Given the description of an element on the screen output the (x, y) to click on. 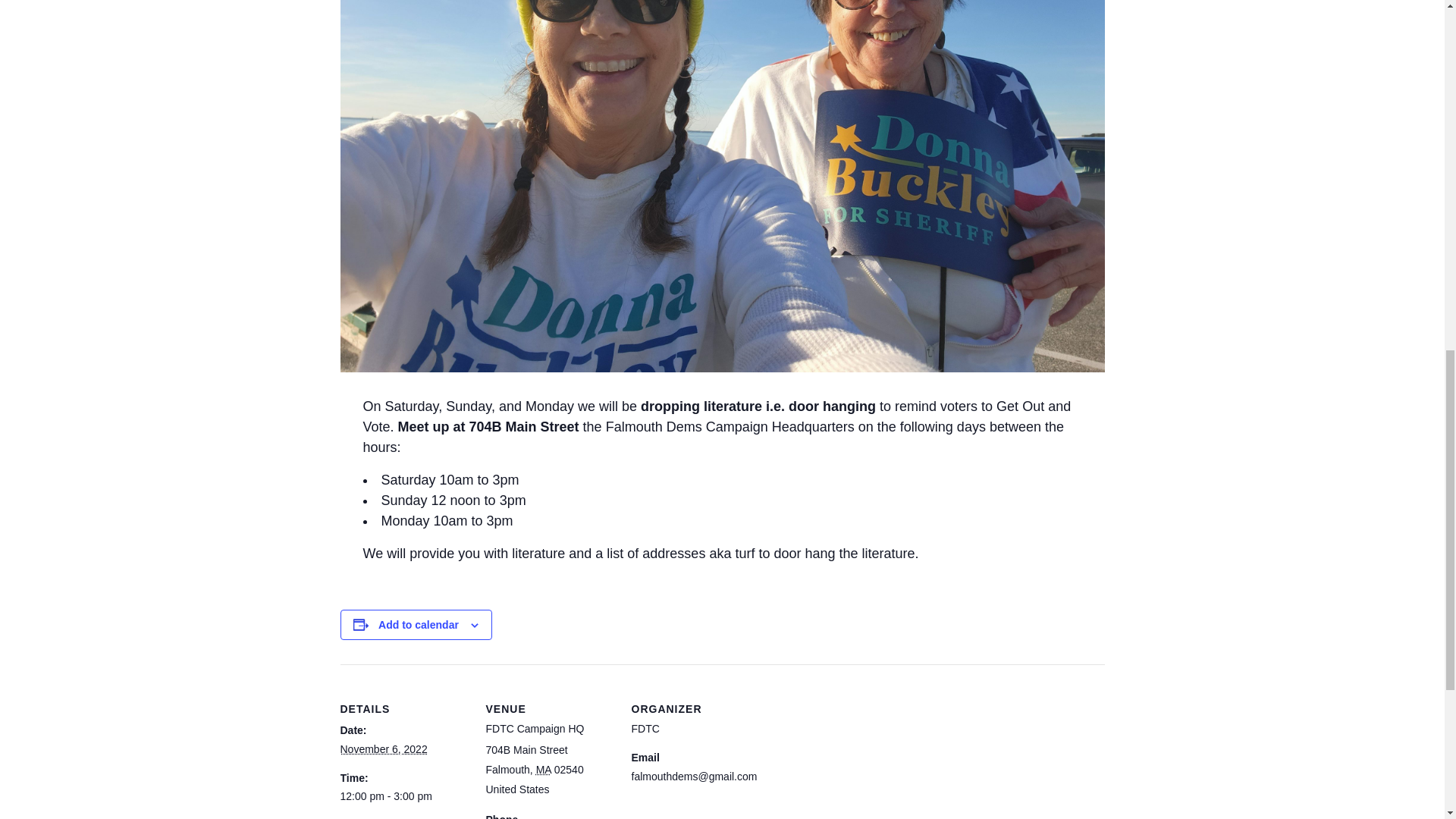
2022-11-06 (403, 796)
Massachusetts (543, 769)
2022-11-06 (382, 748)
Add to calendar (418, 624)
